Given the description of an element on the screen output the (x, y) to click on. 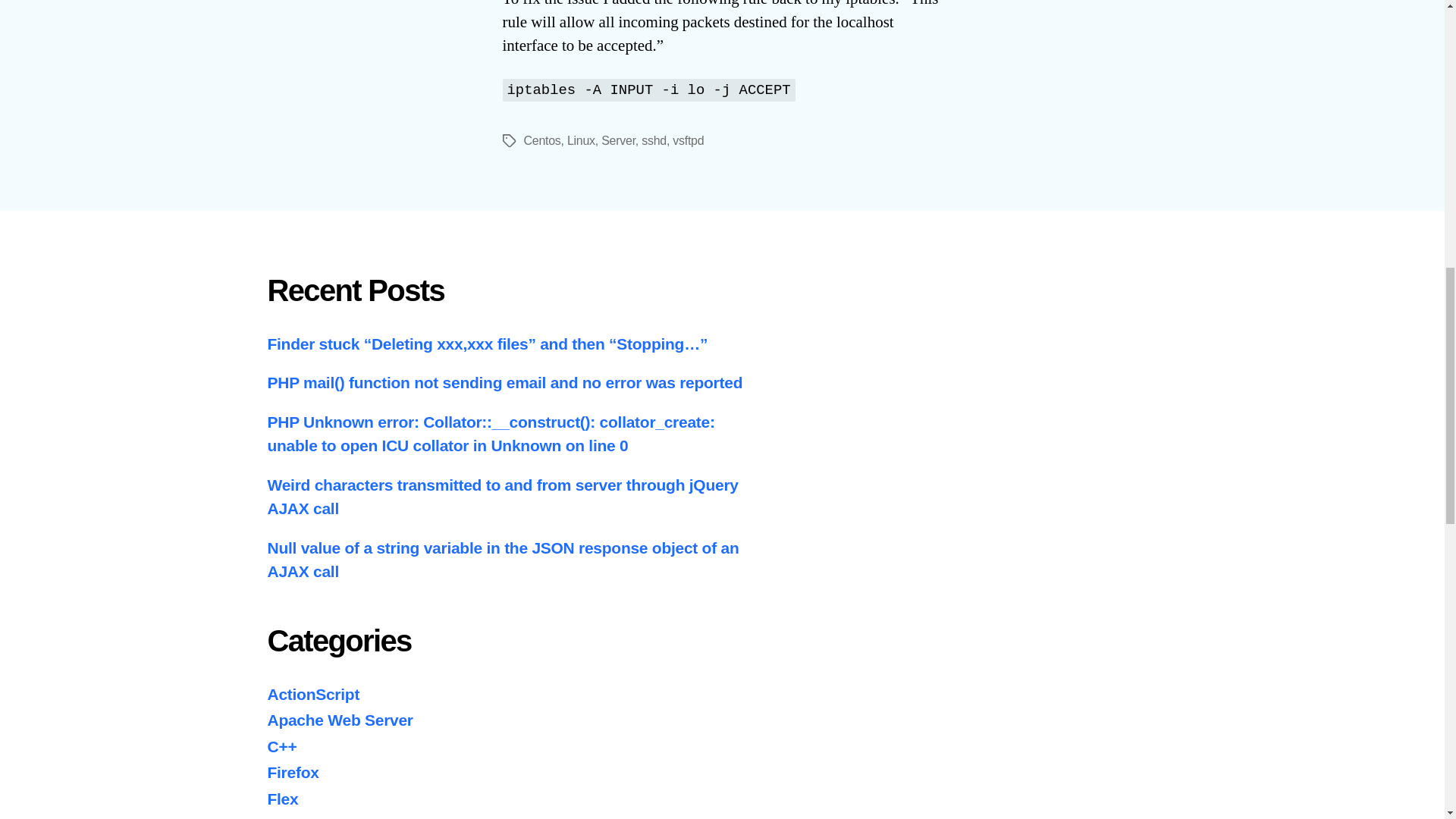
Firefox (292, 772)
Centos (541, 140)
Apache Web Server (339, 719)
Linux (581, 140)
Server (617, 140)
ActionScript (312, 693)
Hibernate (301, 817)
sshd (654, 140)
Flex (282, 798)
vsftpd (687, 140)
